Given the description of an element on the screen output the (x, y) to click on. 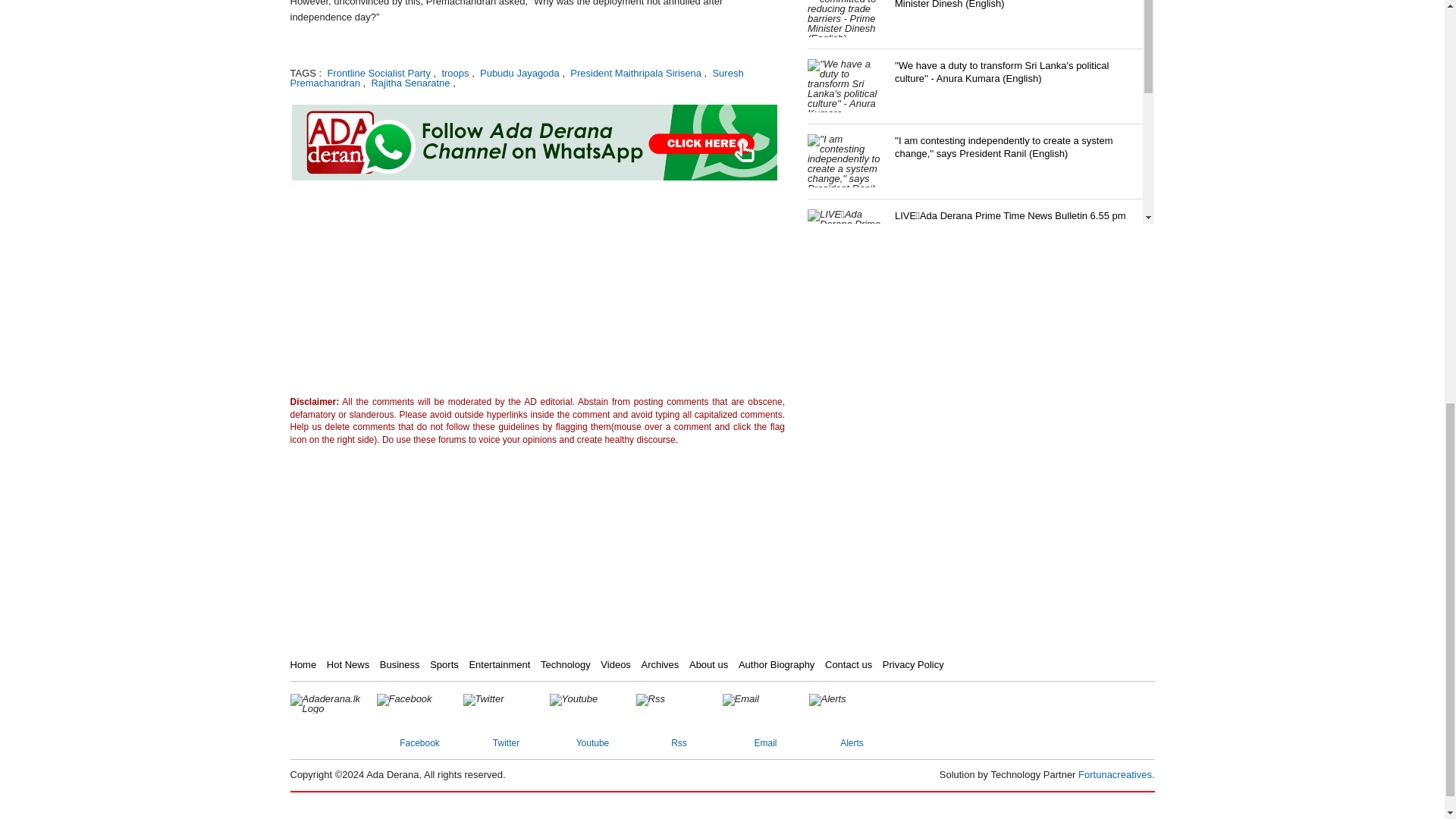
 Rajitha Senaratne (408, 82)
 Pubudu Jayagoda (518, 72)
 Frontline Socialist Party (377, 72)
 troops (453, 72)
 President Maithripala Sirisena (634, 72)
 Suresh Premachandran (515, 77)
